Given the description of an element on the screen output the (x, y) to click on. 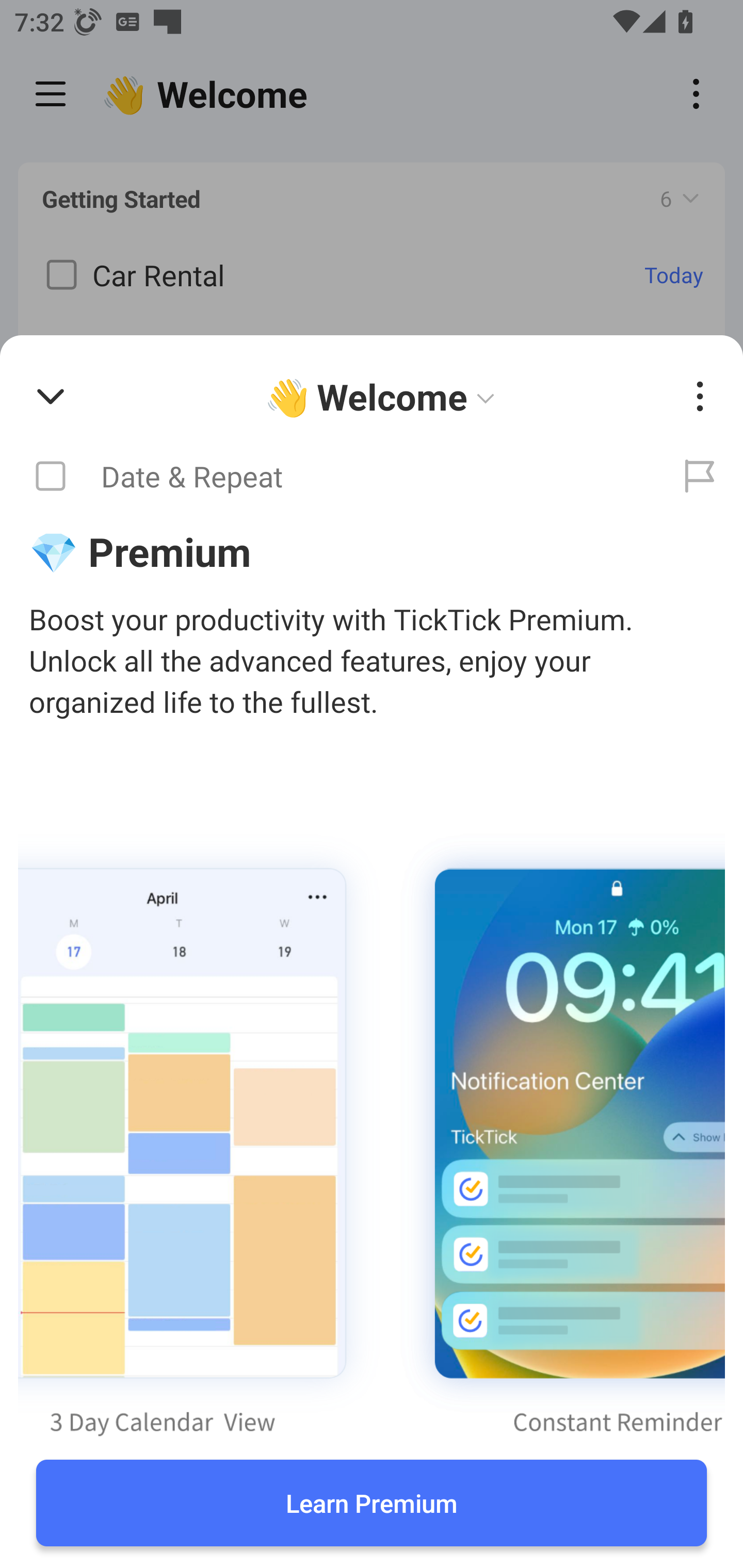
👋 Welcome (384, 396)
Date & Repeat (328, 476)
💎 Premium (371, 551)
Learn Premium (371, 1502)
